Given the description of an element on the screen output the (x, y) to click on. 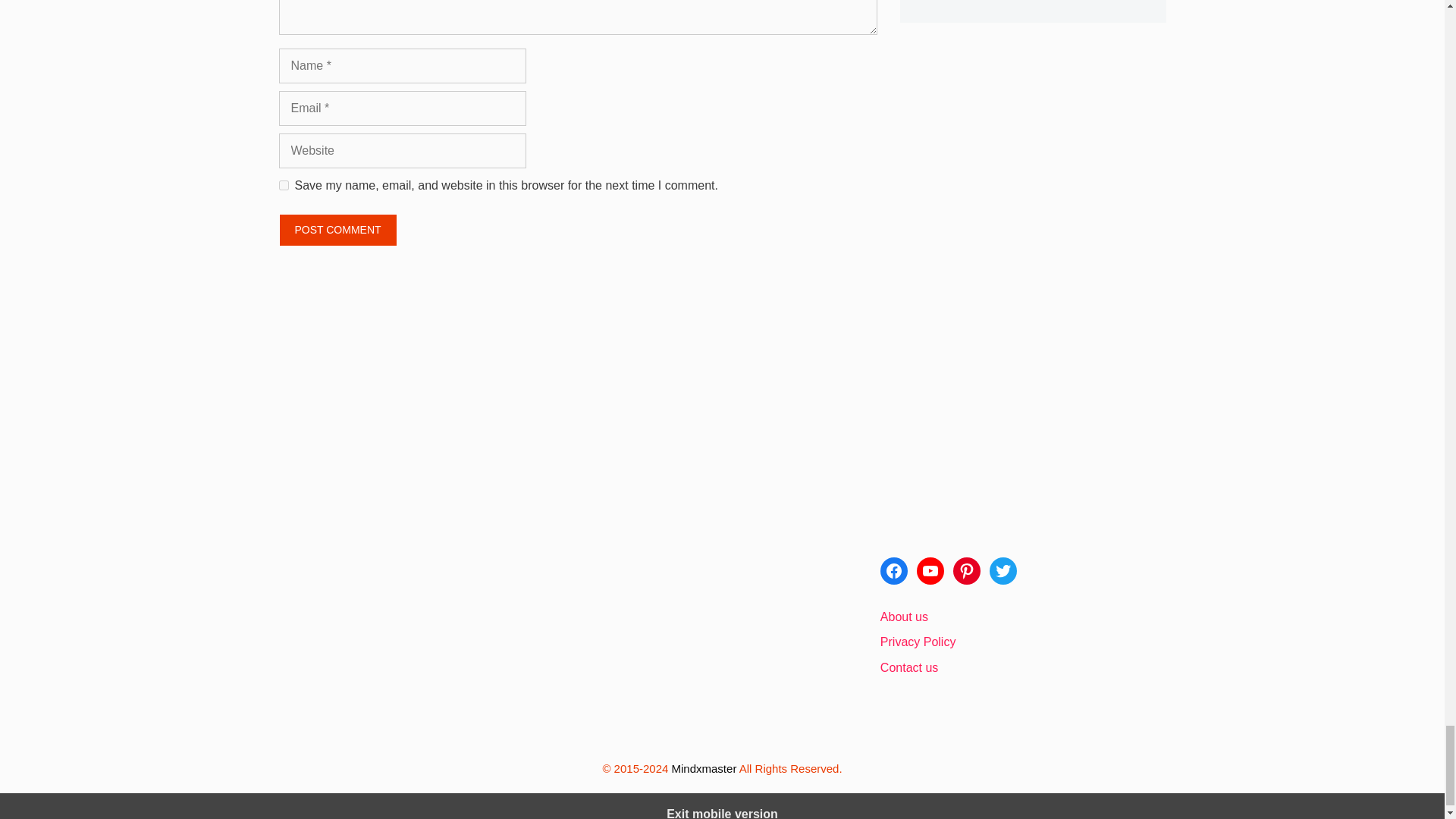
Post Comment (338, 229)
Facebook (893, 570)
yes (283, 185)
Twitter (1003, 570)
YouTube (930, 570)
Post Comment (338, 229)
About us (904, 616)
Pinterest (966, 570)
